Given the description of an element on the screen output the (x, y) to click on. 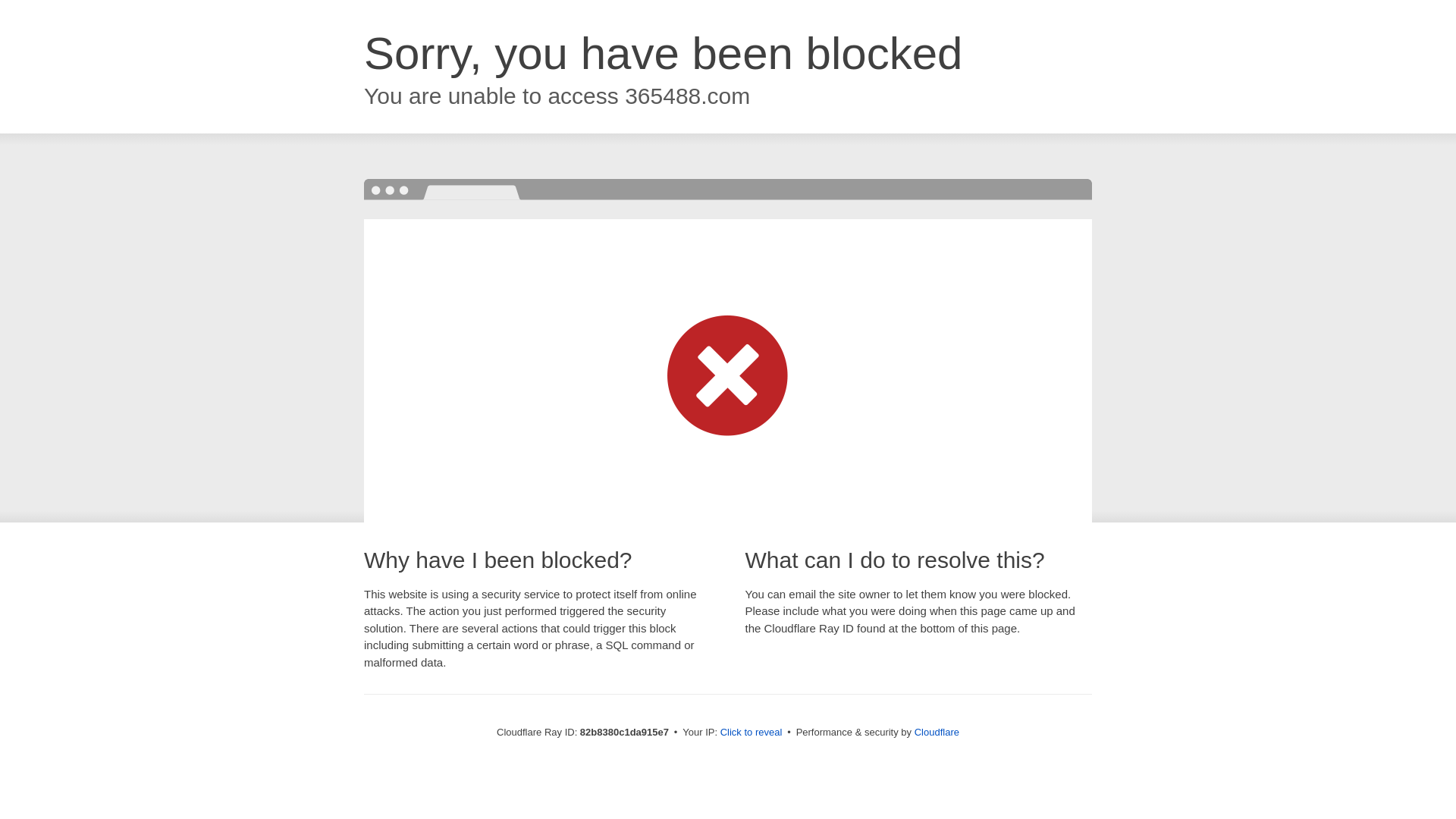
Cloudflare Element type: text (936, 731)
Click to reveal Element type: text (751, 732)
